Given the description of an element on the screen output the (x, y) to click on. 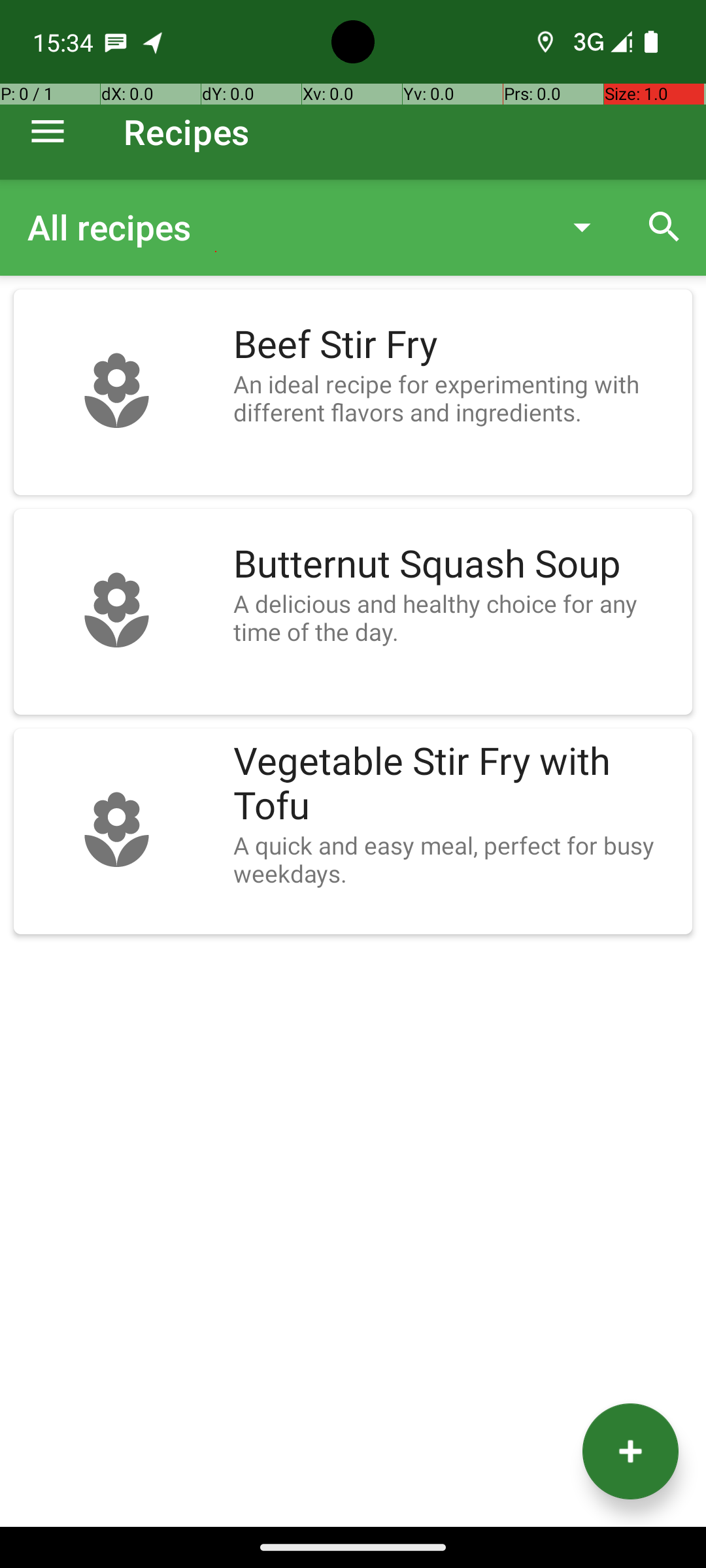
Vegetable Stir Fry with Tofu Element type: android.widget.TextView (455, 783)
SMS Messenger notification: Noa Mohamed Element type: android.widget.ImageView (115, 41)
